Given the description of an element on the screen output the (x, y) to click on. 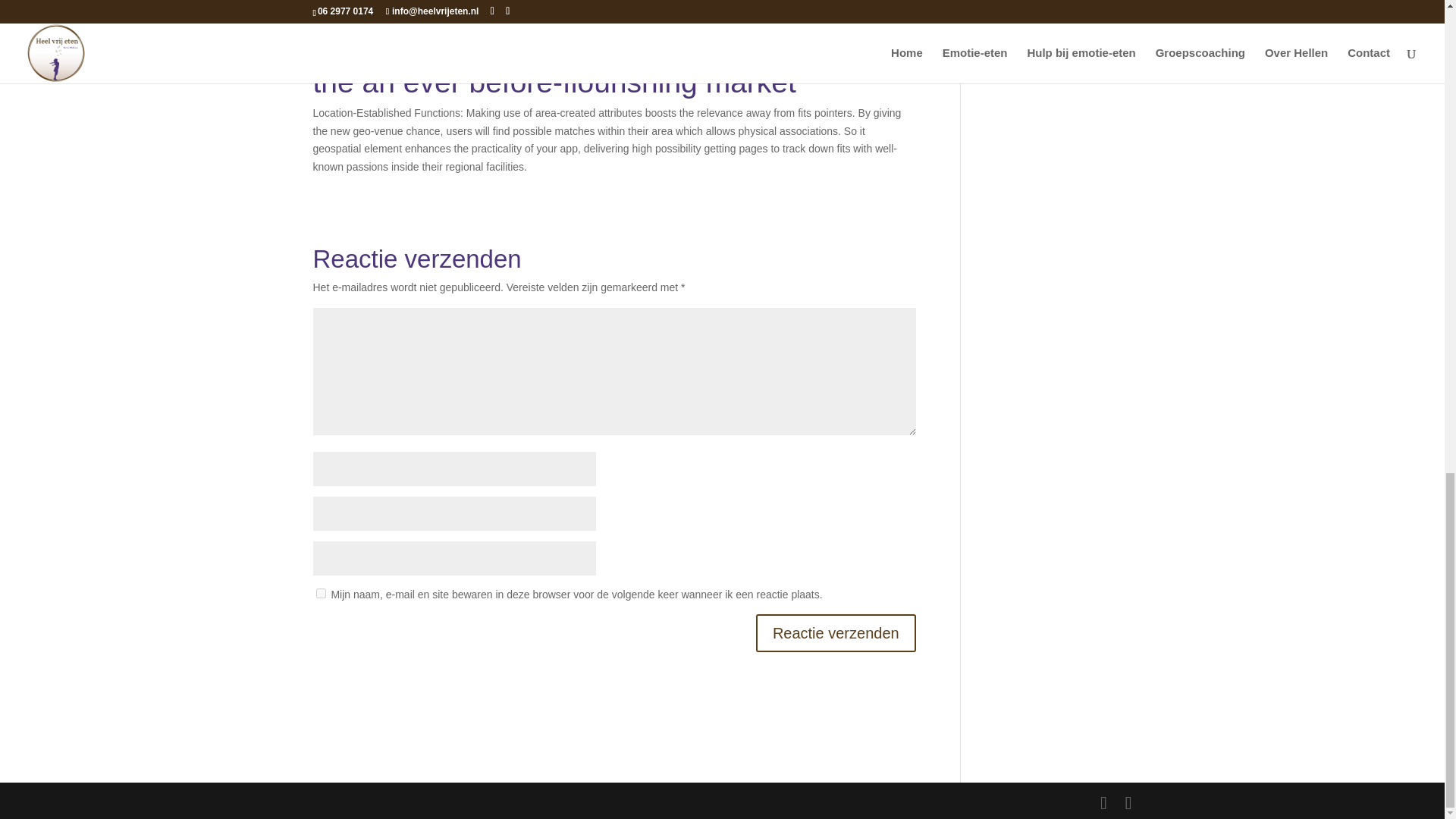
Reactie verzenden (835, 632)
Reactie verzenden (835, 632)
yes (319, 593)
